Given the description of an element on the screen output the (x, y) to click on. 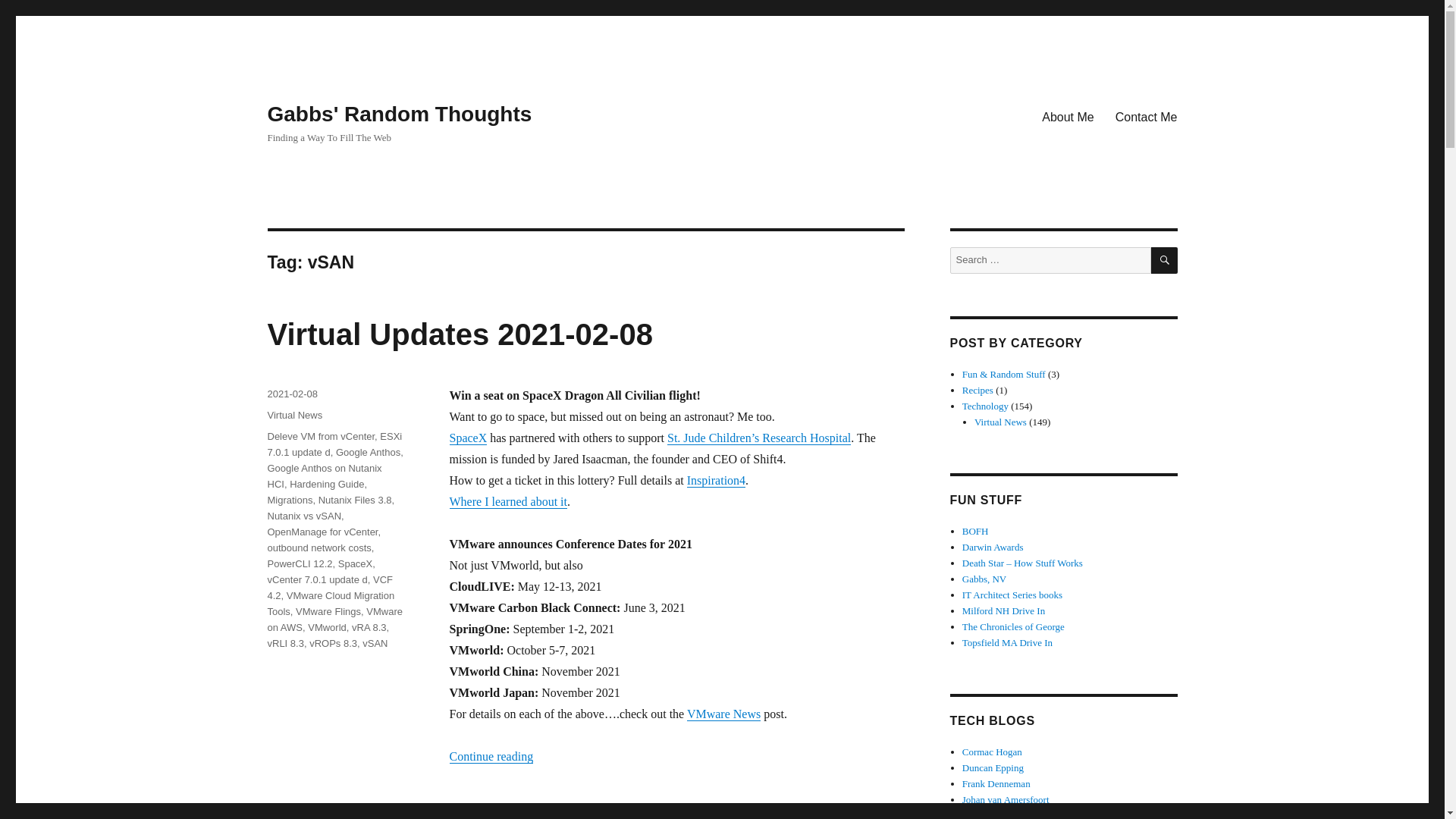
2021-02-08 (291, 393)
SpaceX (354, 563)
Google Anthos (368, 451)
VMworld (326, 627)
Google Anthos on Nutanix HCI (323, 475)
Nutanix Files 3.8 (354, 500)
VMware Cloud Migration Tools (330, 603)
Deleve VM from vCenter (320, 436)
Contact Me (1146, 116)
Inspiration4 (716, 480)
ESXi 7.0.1 update d (333, 443)
vRA 8.3 (369, 627)
vCenter 7.0.1 update d (316, 579)
outbound network costs (318, 547)
Virtual Updates 2021-02-08 (459, 334)
